Given the description of an element on the screen output the (x, y) to click on. 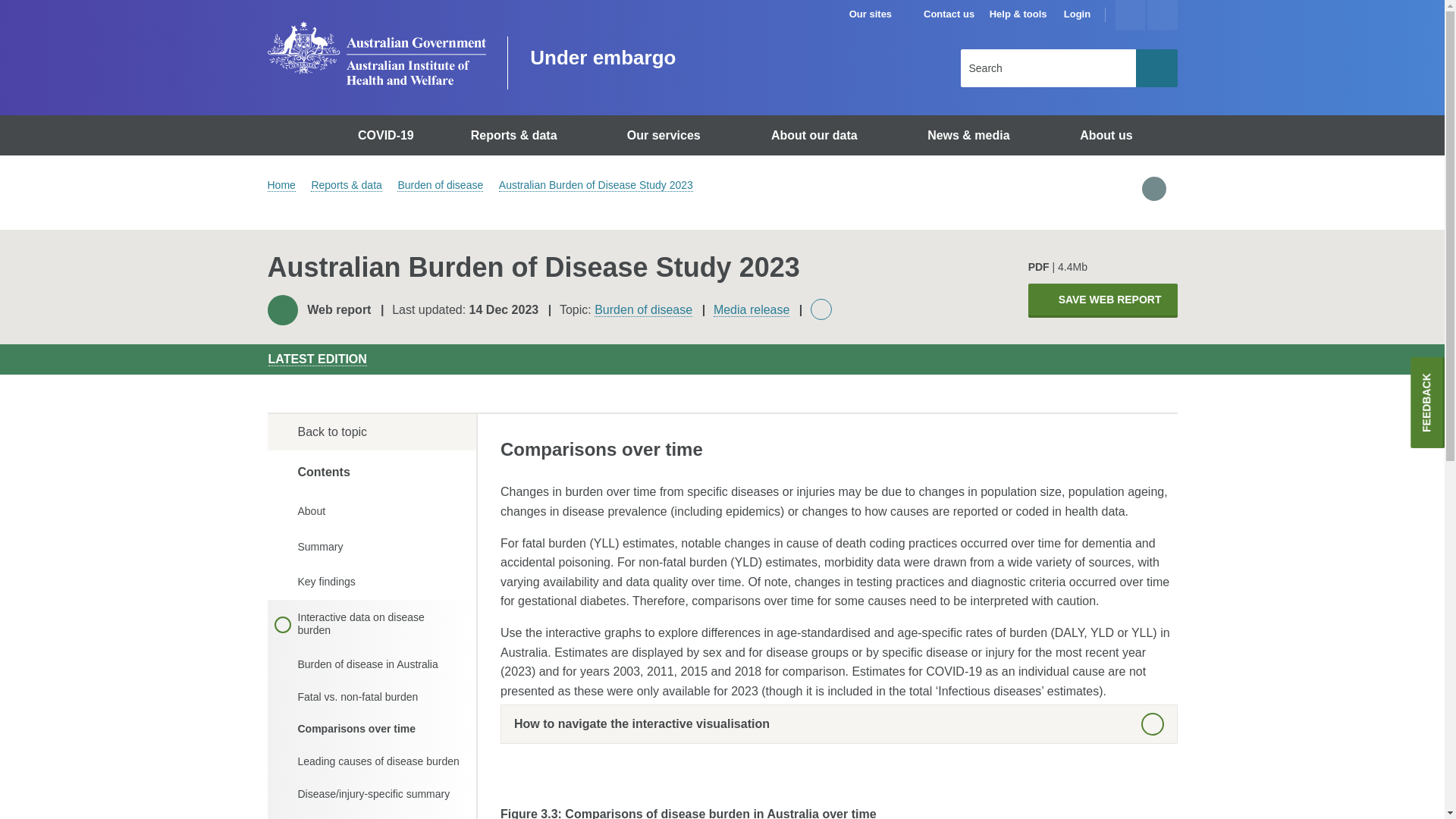
Increase text size (1130, 15)
Australian Institute of Health and Welfare (375, 53)
Contact us (948, 14)
Our sites (877, 14)
Login (1077, 14)
COVID-19 (388, 135)
Decrease text size (1162, 15)
Search (1156, 67)
